Given the description of an element on the screen output the (x, y) to click on. 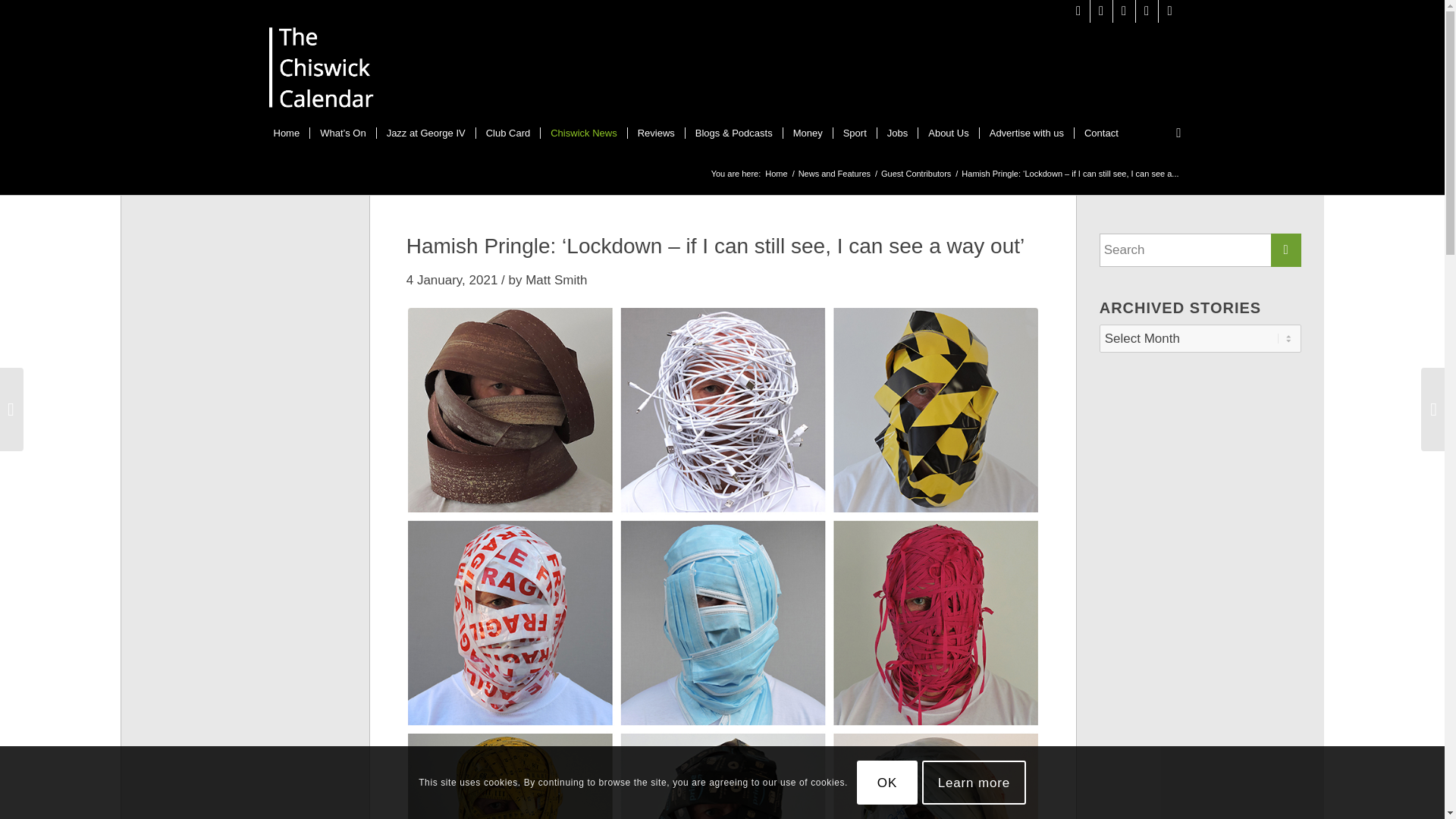
X (1078, 11)
TCC-white-on-white (321, 70)
Instagram (1101, 11)
Mail (1169, 11)
Home (286, 133)
Facebook (1124, 11)
Youtube (1146, 11)
